Given the description of an element on the screen output the (x, y) to click on. 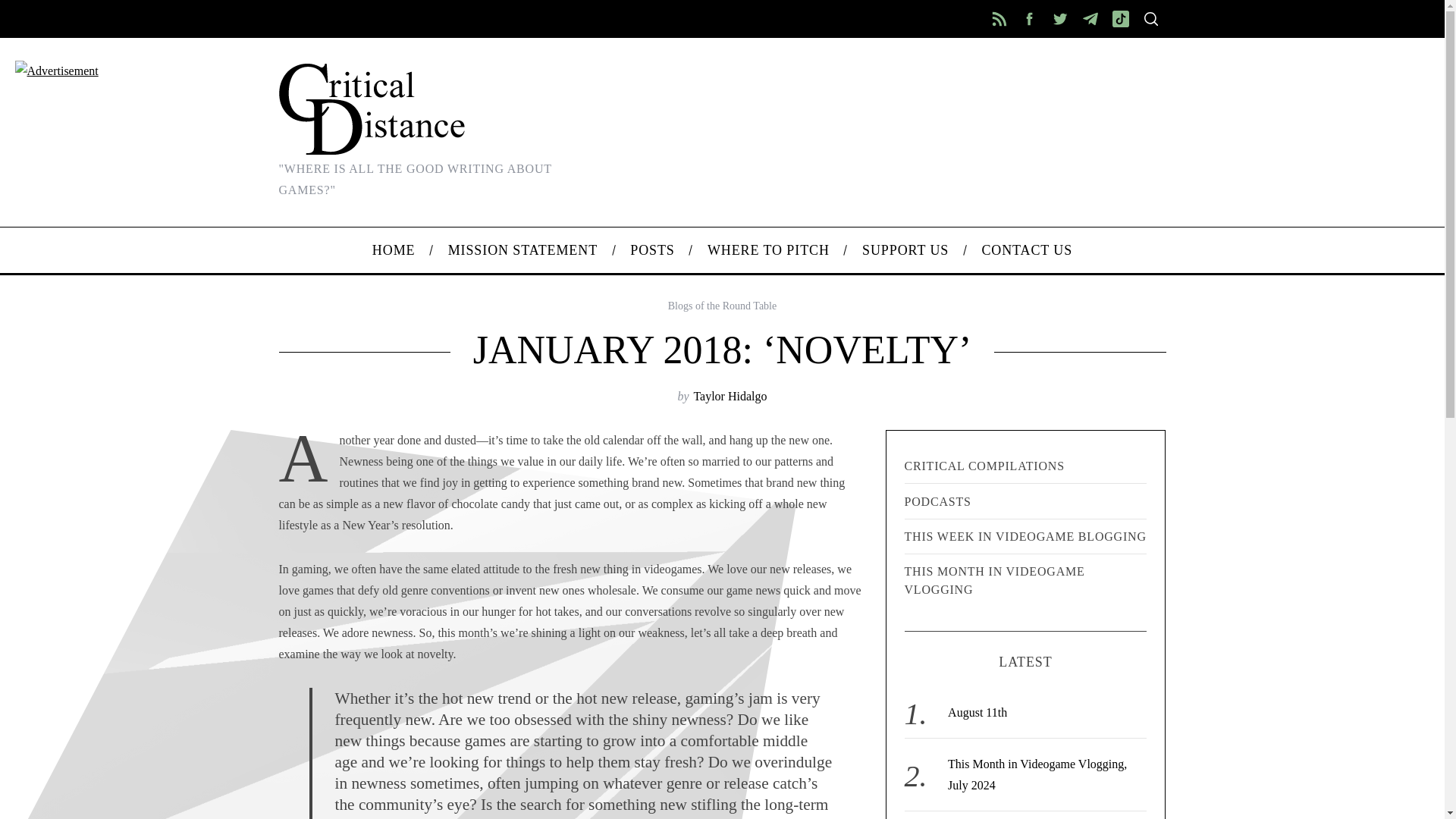
SUPPORT US (904, 249)
CRITICAL COMPILATIONS (1025, 466)
Blogs of the Round Table (722, 306)
August 11th (977, 712)
This Month in Videogame Vlogging, July 2024 (1036, 774)
Taylor Hidalgo (730, 395)
POSTS (652, 249)
THIS MONTH IN VIDEOGAME VLOGGING (1025, 580)
MISSION STATEMENT (522, 249)
WHERE TO PITCH (767, 249)
